Given the description of an element on the screen output the (x, y) to click on. 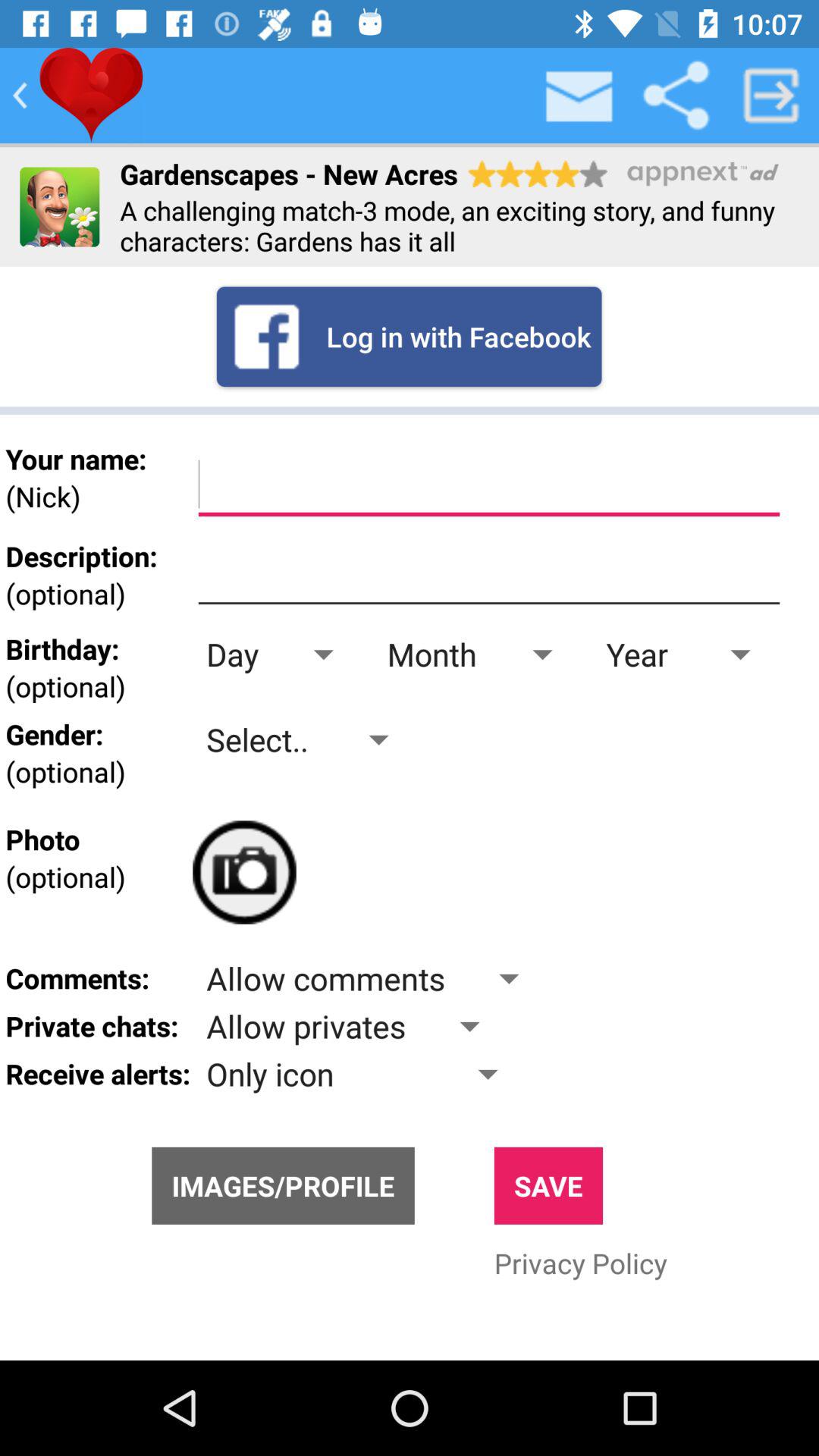
go back (19, 95)
